Given the description of an element on the screen output the (x, y) to click on. 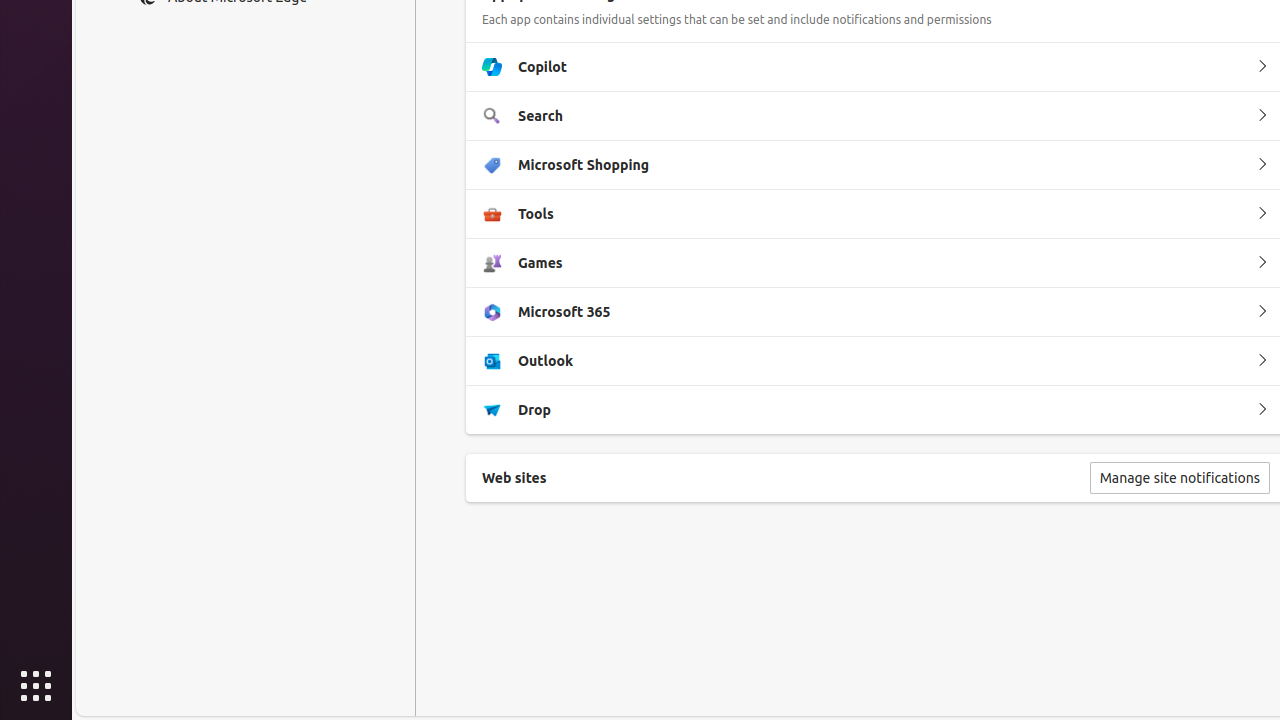
Microsoft 365 Element type: push-button (1262, 312)
Copilot Element type: push-button (1262, 66)
Tools Element type: push-button (1262, 213)
Microsoft Shopping Element type: push-button (1262, 165)
Manage site notifications Element type: push-button (1179, 478)
